Given the description of an element on the screen output the (x, y) to click on. 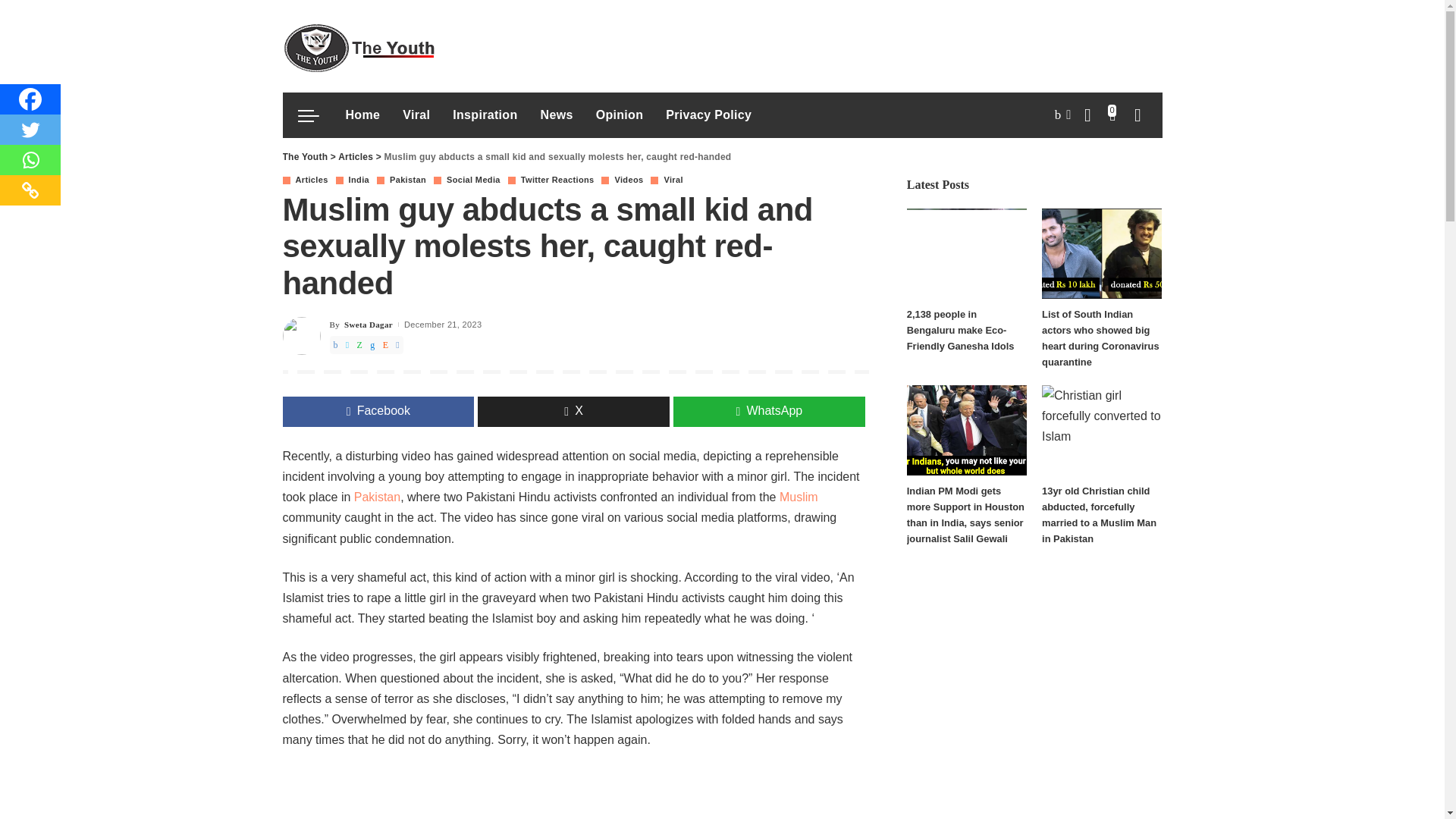
Go to the Articles Category archives. (354, 156)
Go to The Youth. (304, 156)
The Youth (357, 45)
